Given the description of an element on the screen output the (x, y) to click on. 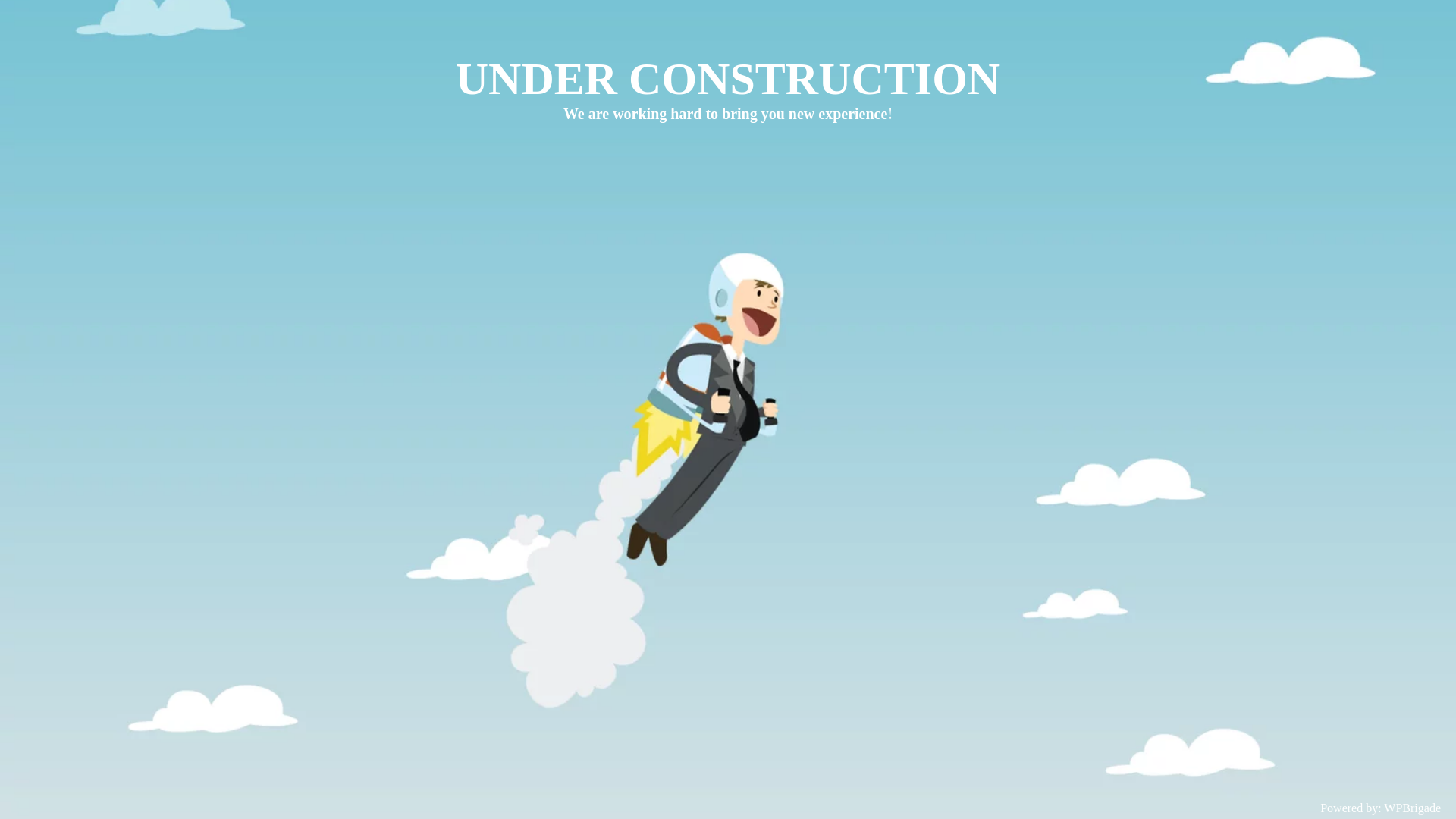
WPBrigade Element type: text (1411, 807)
